Given the description of an element on the screen output the (x, y) to click on. 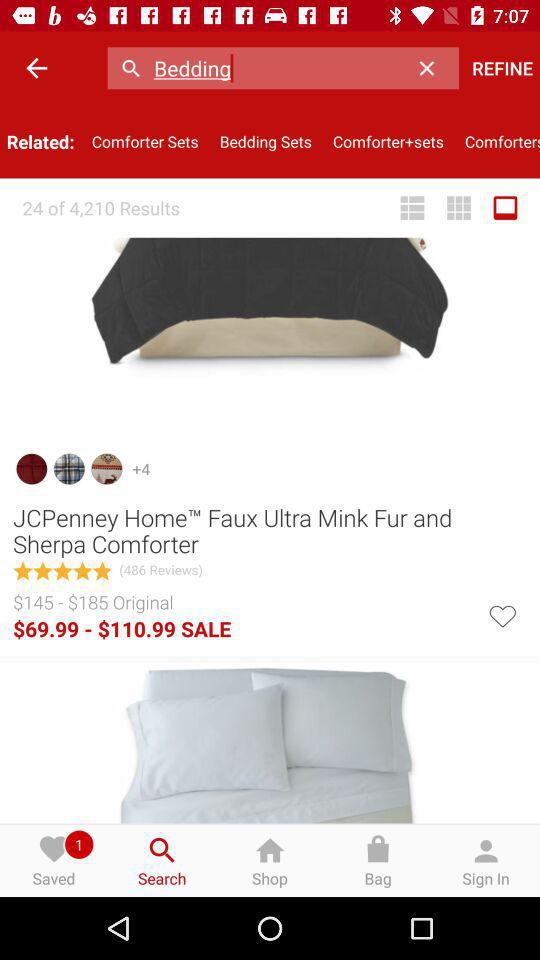
select item to the right of the comforter+sets item (497, 141)
